Given the description of an element on the screen output the (x, y) to click on. 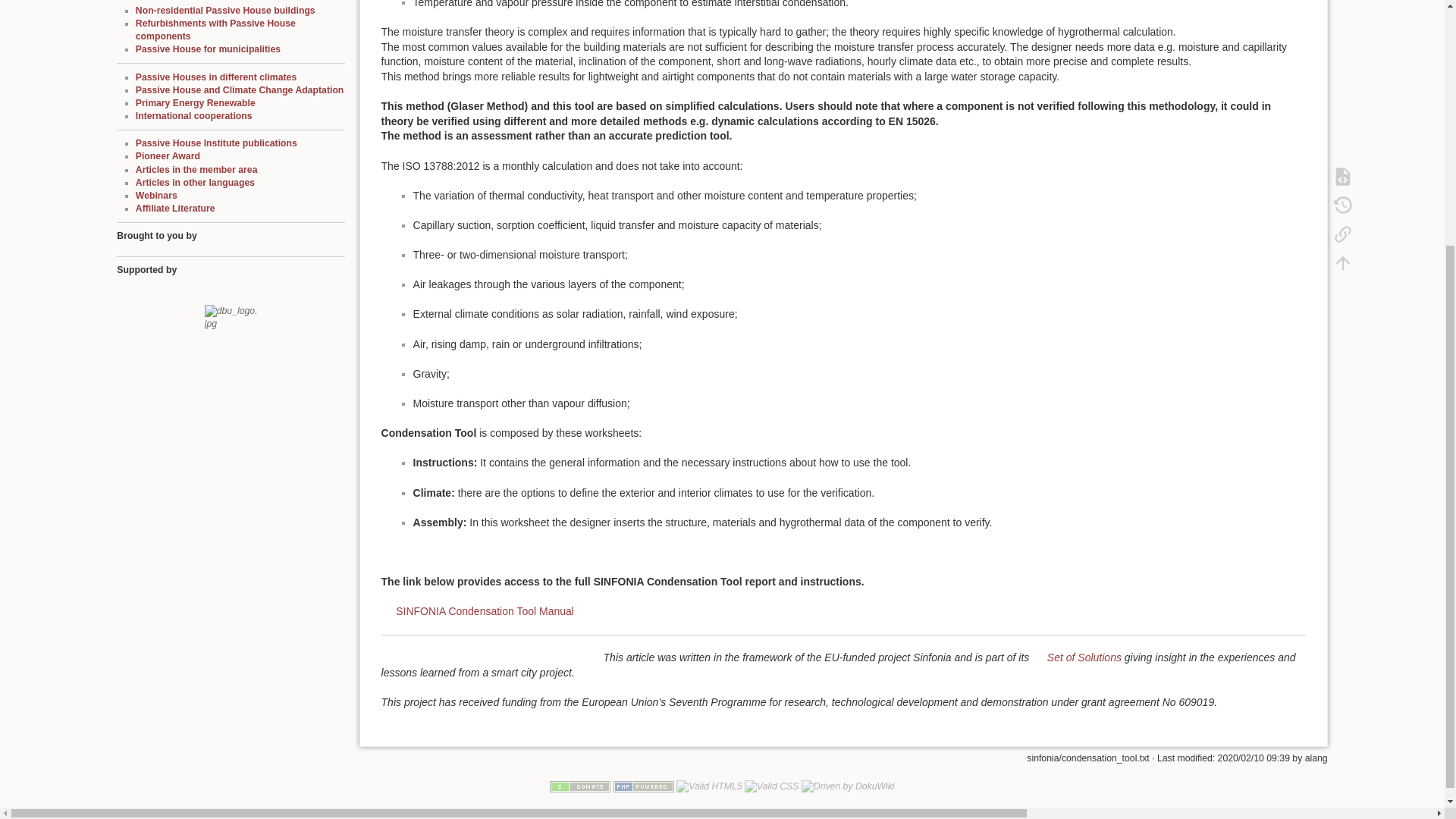
Affiliate Literature (175, 208)
Pioneer Award (167, 155)
Passive Houses in different climates (216, 77)
Passive House Institute publications (216, 143)
Refurbishments with Passive House components (215, 29)
Articles in other languages (194, 182)
Articles in the member area (196, 169)
SINFONIA Condensation Tool Manual (477, 611)
Passive House and Climate Change Adaptation (239, 90)
Webinars (156, 195)
Primary Energy Renewable (195, 102)
Non-residential Passive House buildings (225, 9)
Passive House for municipalities (208, 49)
International cooperations (193, 115)
